Given the description of an element on the screen output the (x, y) to click on. 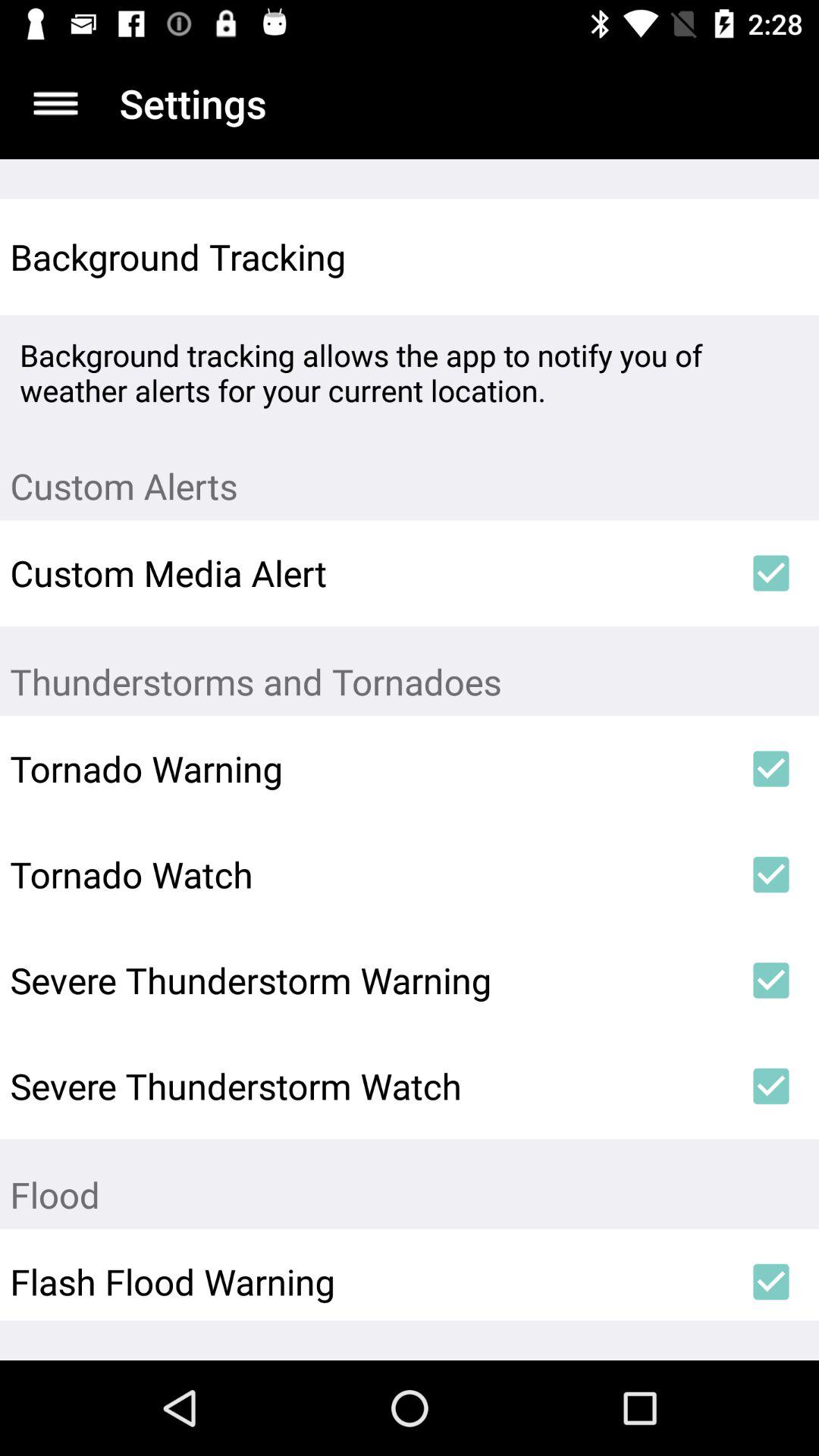
scroll to the tornado watch (366, 874)
